Given the description of an element on the screen output the (x, y) to click on. 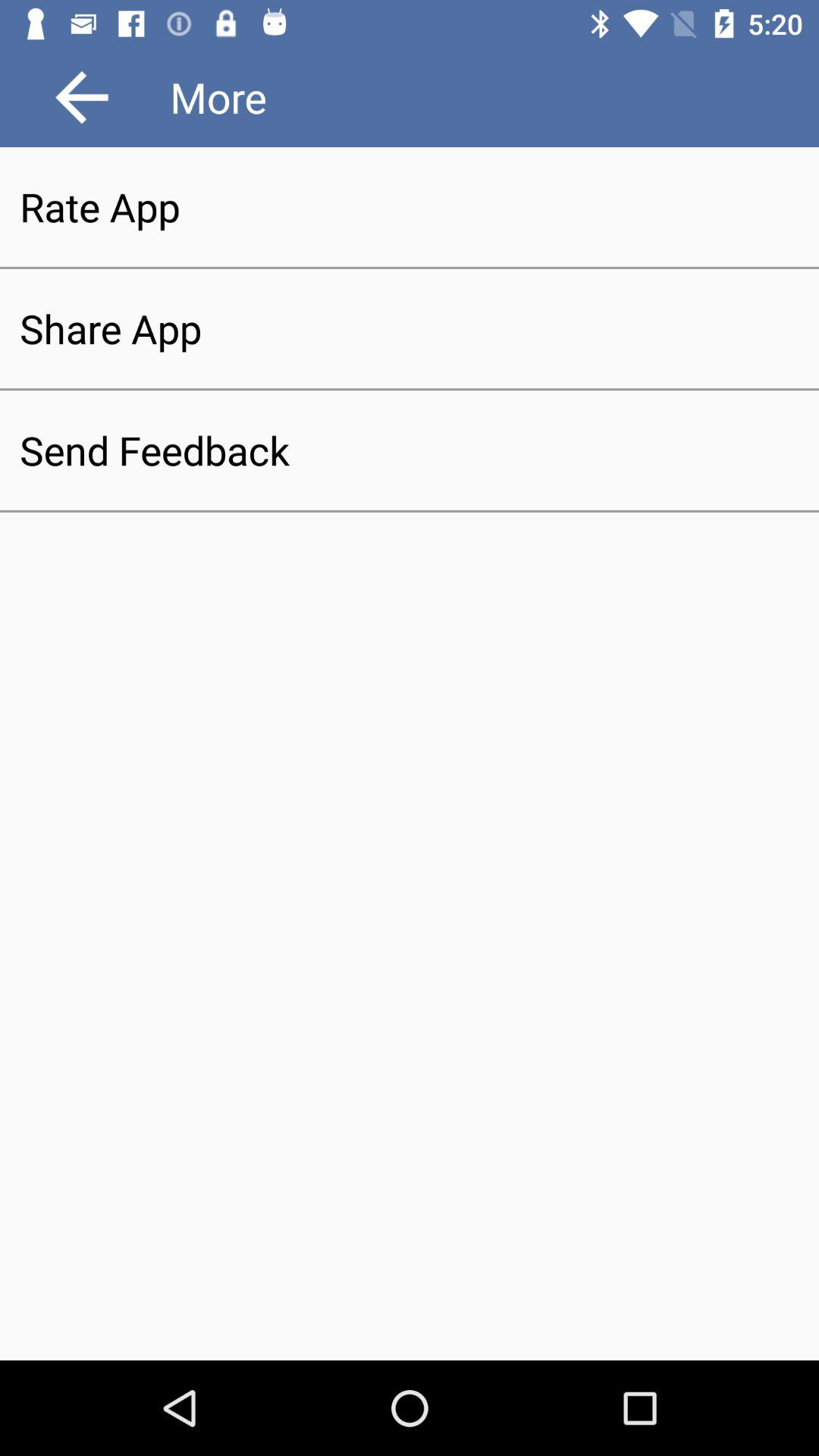
tap the rate app item (409, 206)
